Given the description of an element on the screen output the (x, y) to click on. 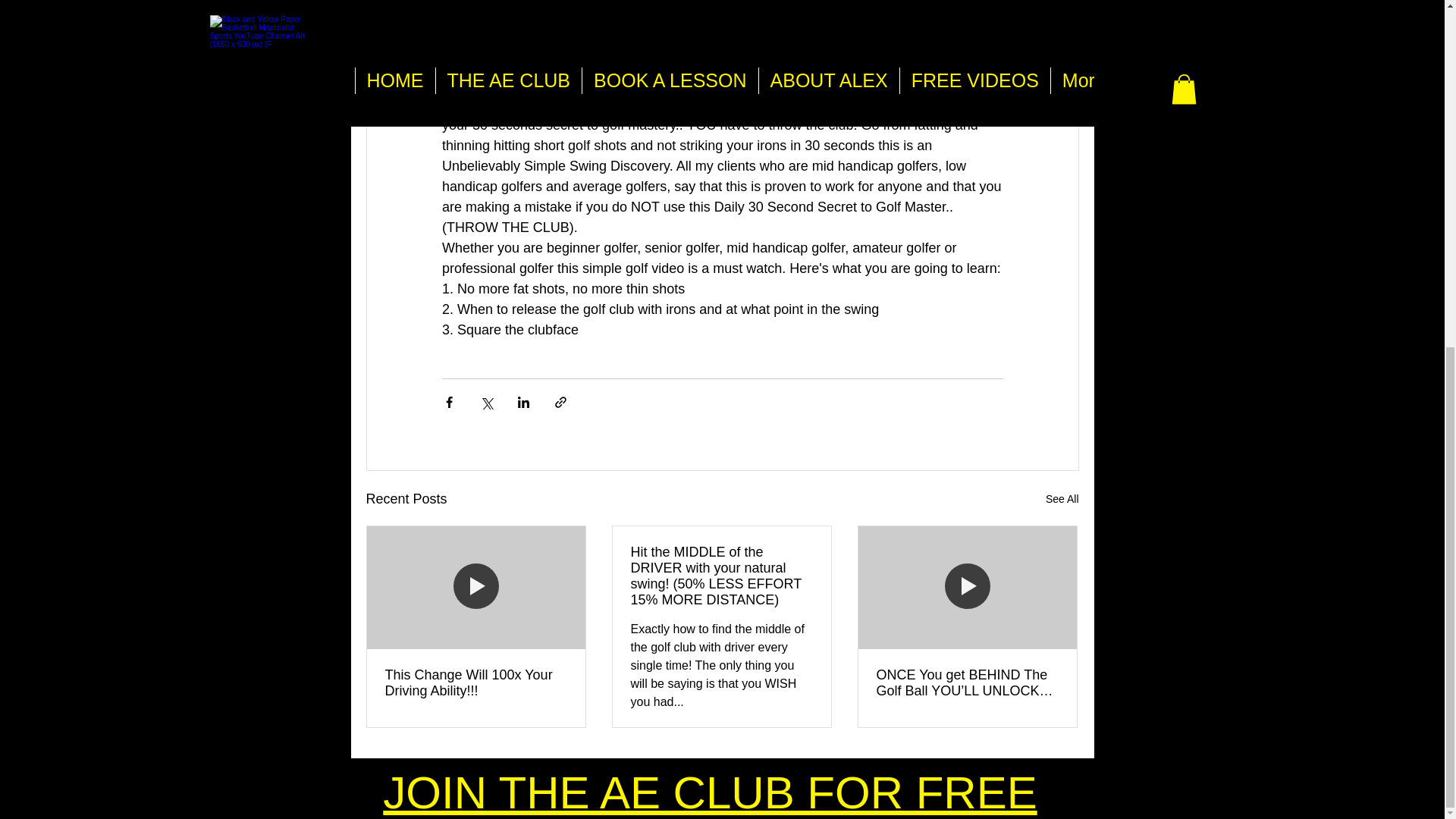
See All (1061, 499)
JOIN THE AE CLUB FOR FREE (709, 792)
This Change Will 100x Your Driving Ability!!! (476, 683)
